Given the description of an element on the screen output the (x, y) to click on. 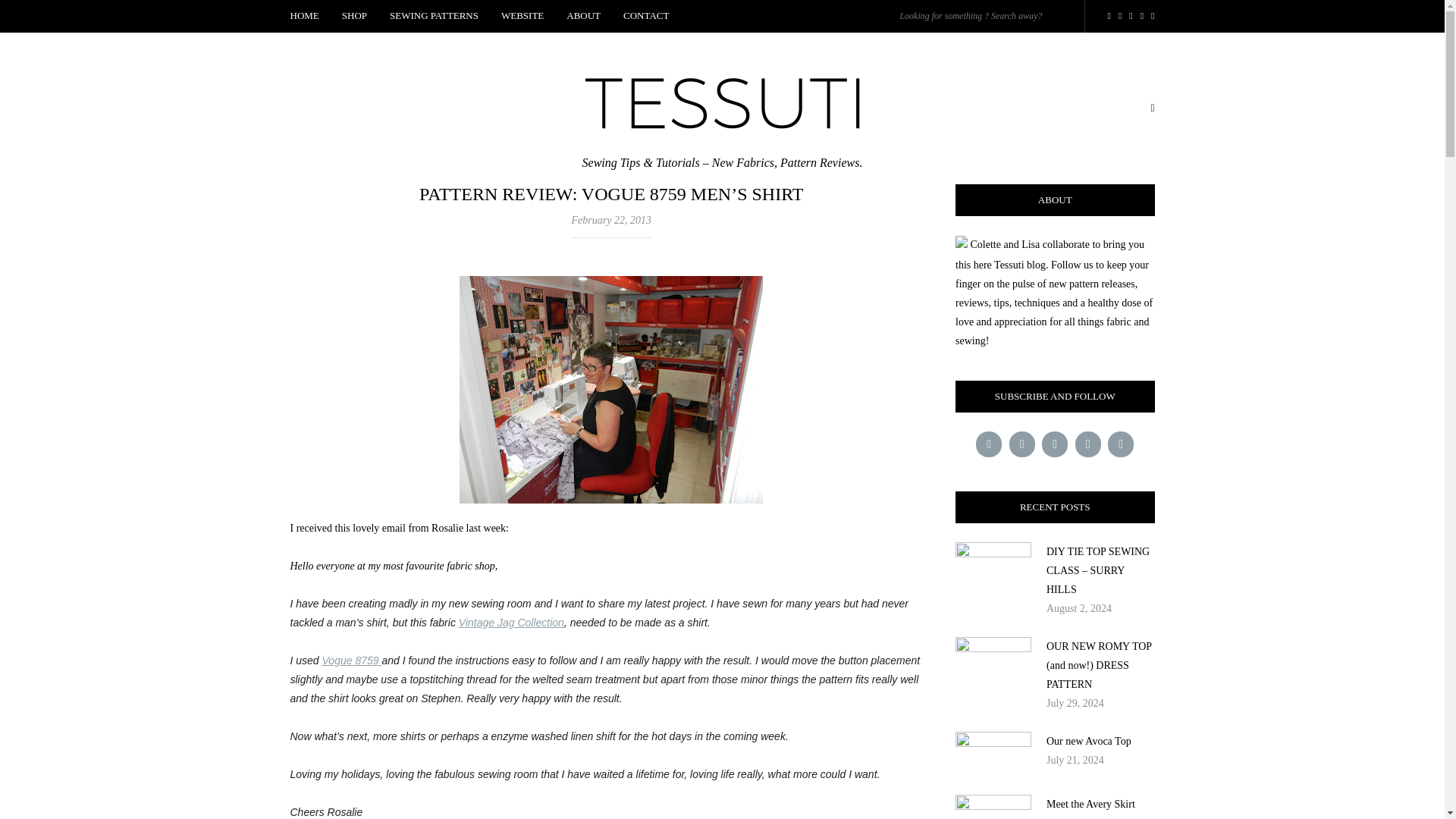
CONTACT (645, 16)
SEWING PATTERNS (433, 16)
Vogue 8759 (351, 660)
SHOP (354, 16)
HOME (309, 16)
ABOUT (582, 16)
Vintage Jag Collection (511, 622)
WEBSITE (521, 16)
